Given the description of an element on the screen output the (x, y) to click on. 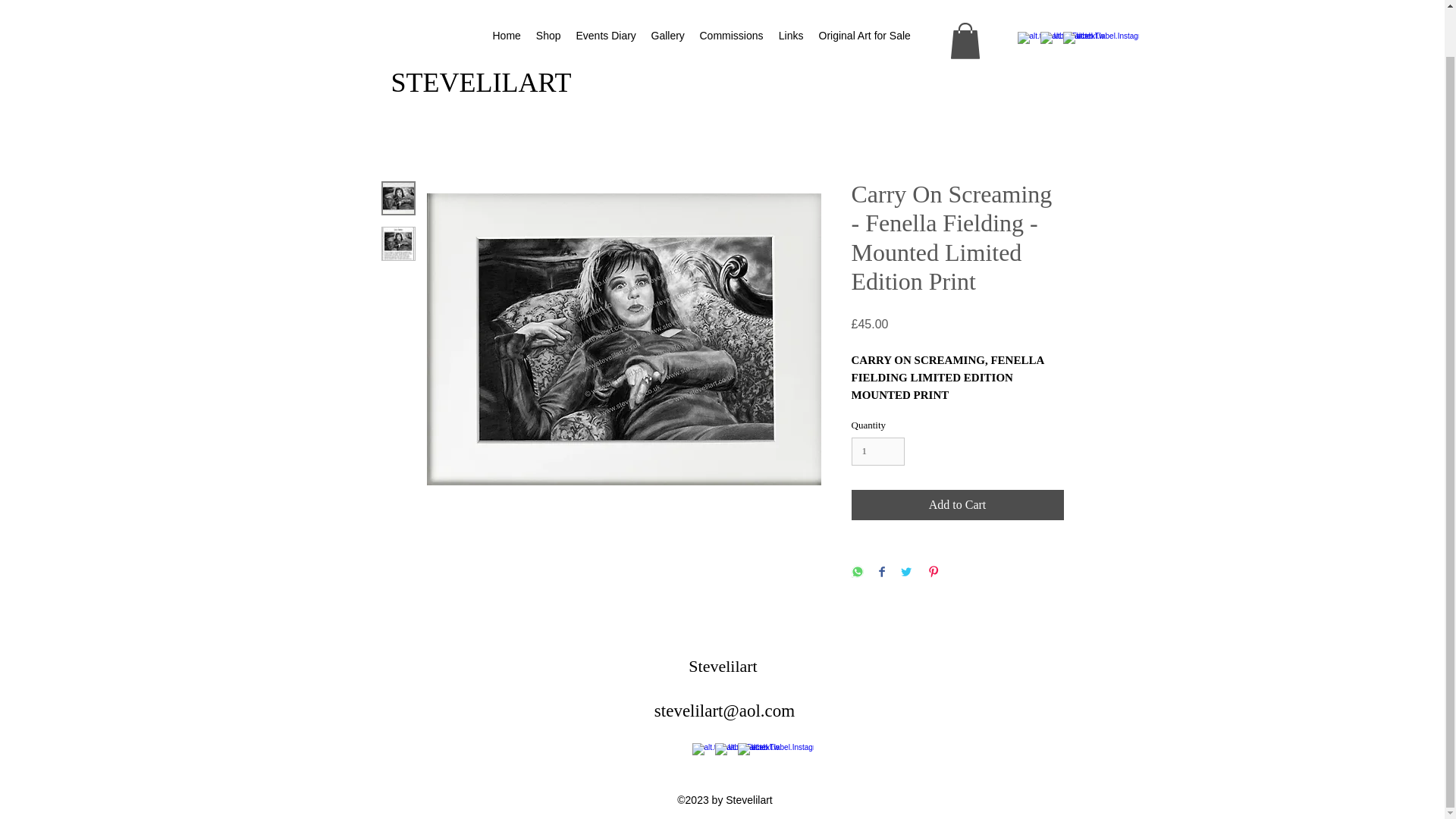
Add to Cart (956, 504)
1 (877, 451)
STEVELILART (480, 34)
